Given the description of an element on the screen output the (x, y) to click on. 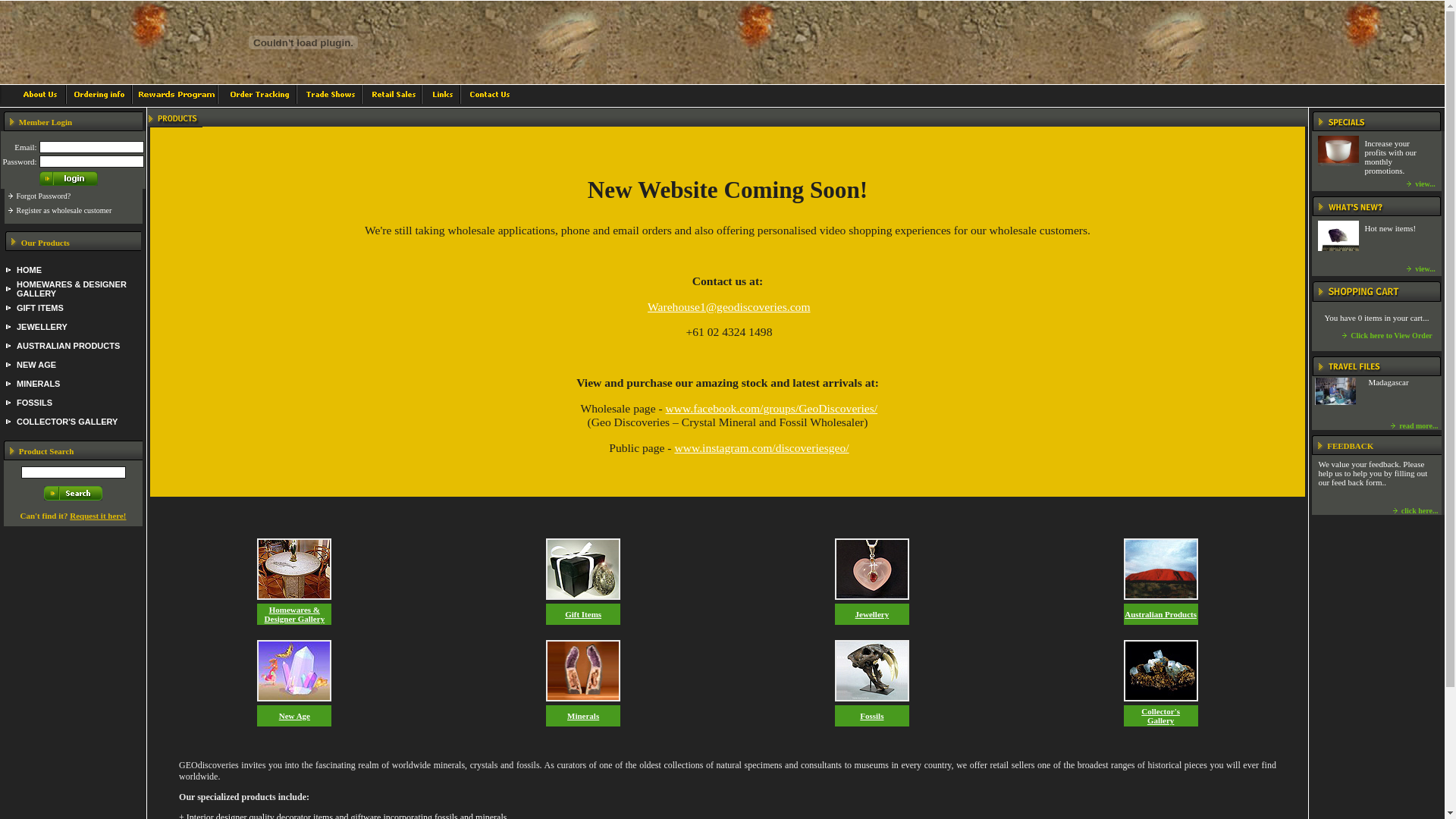
GIFT ITEMS Element type: text (39, 307)
Homewares & Designer Gallery Element type: text (294, 614)
Register as wholesale customer Element type: text (64, 210)
Fossils Element type: text (871, 715)
HOMEWARES & DESIGNER GALLERY Element type: text (71, 288)
NEW AGE Element type: text (36, 363)
New Age Element type: text (294, 715)
Australian Products Element type: text (1160, 613)
Click here to View Order Element type: text (1391, 335)
JEWELLERY Element type: text (41, 325)
Jewellery Element type: text (872, 613)
www.facebook.com/groups/GeoDiscoveries/ Element type: text (771, 407)
view... Element type: text (1424, 183)
Minerals Element type: text (583, 715)
COLLECTOR'S GALLERY Element type: text (66, 421)
Collector's
Gallery Element type: text (1160, 715)
Warehouse1@geodiscoveries.com Element type: text (728, 306)
Gift Items Element type: text (582, 613)
AUSTRALIAN PRODUCTS Element type: text (67, 345)
www.instagram.com/discoveriesgeo/ Element type: text (761, 447)
Forgot Password? Element type: text (43, 195)
HOME Element type: text (28, 269)
FOSSILS Element type: text (34, 401)
click here... Element type: text (1419, 510)
MINERALS Element type: text (37, 383)
Request it here! Element type: text (97, 515)
read more... Element type: text (1418, 425)
view... Element type: text (1424, 268)
